Given the description of an element on the screen output the (x, y) to click on. 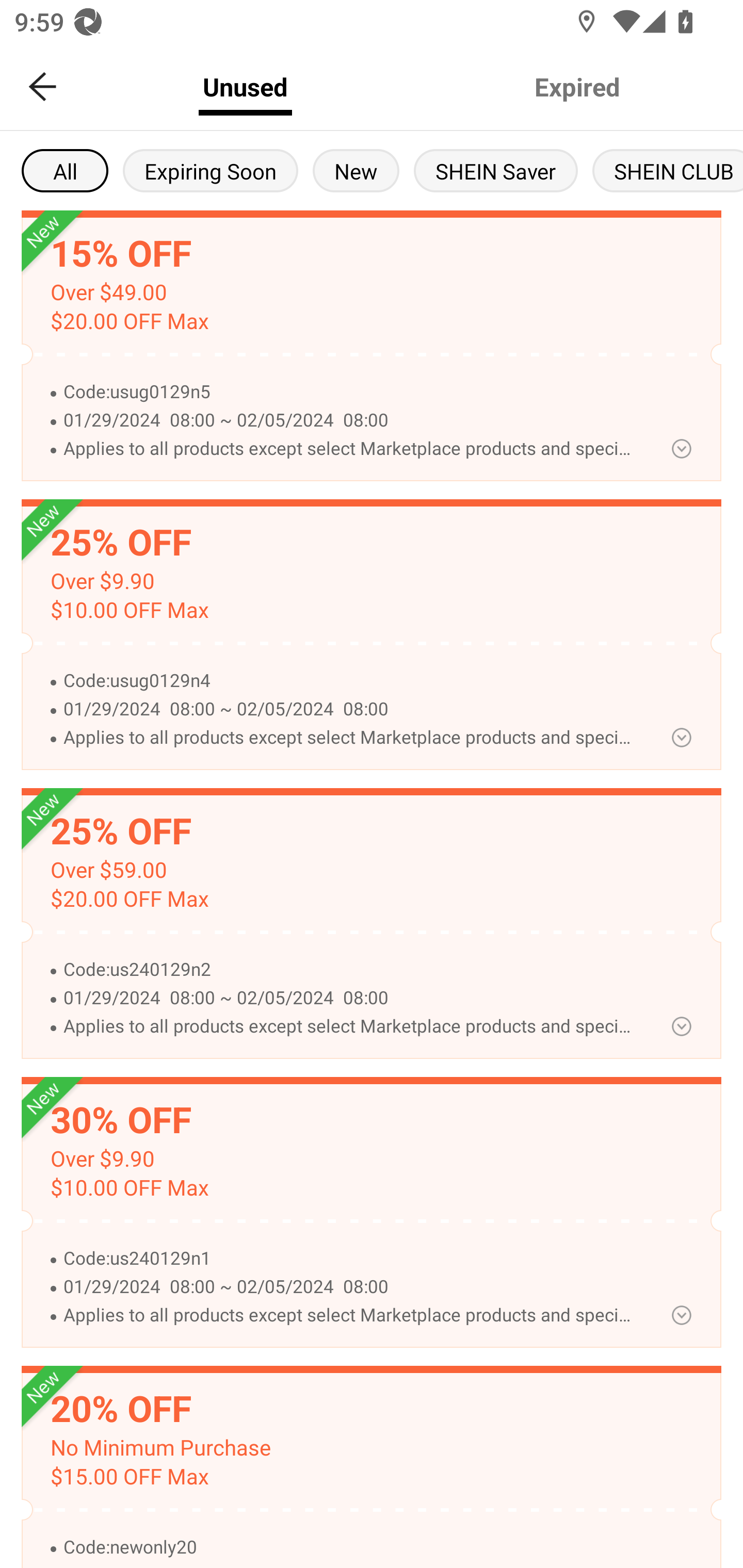
Unused (244, 86)
Expired (576, 86)
All (64, 170)
Expiring Soon (209, 170)
New (355, 170)
SHEIN Saver (495, 170)
SHEIN CLUB (667, 170)
$20.00 OFF Max (129, 320)
Code:usug0129n5 (350, 391)
01/29/2024  08:00 ~ 02/05/2024  08:00 (350, 420)
Pack up (681, 448)
$10.00 OFF Max (129, 609)
Code:usug0129n4 (350, 681)
01/29/2024  08:00 ~ 02/05/2024  08:00 (350, 709)
Pack up (681, 737)
$20.00 OFF Max (129, 898)
Code:us240129n2 (350, 969)
01/29/2024  08:00 ~ 02/05/2024  08:00 (350, 997)
Pack up (681, 1026)
$10.00 OFF Max (129, 1188)
Code:us240129n1 (350, 1259)
01/29/2024  08:00 ~ 02/05/2024  08:00 (350, 1287)
Pack up (681, 1315)
$15.00 OFF Max (129, 1476)
Code:newonly20 (350, 1547)
